Given the description of an element on the screen output the (x, y) to click on. 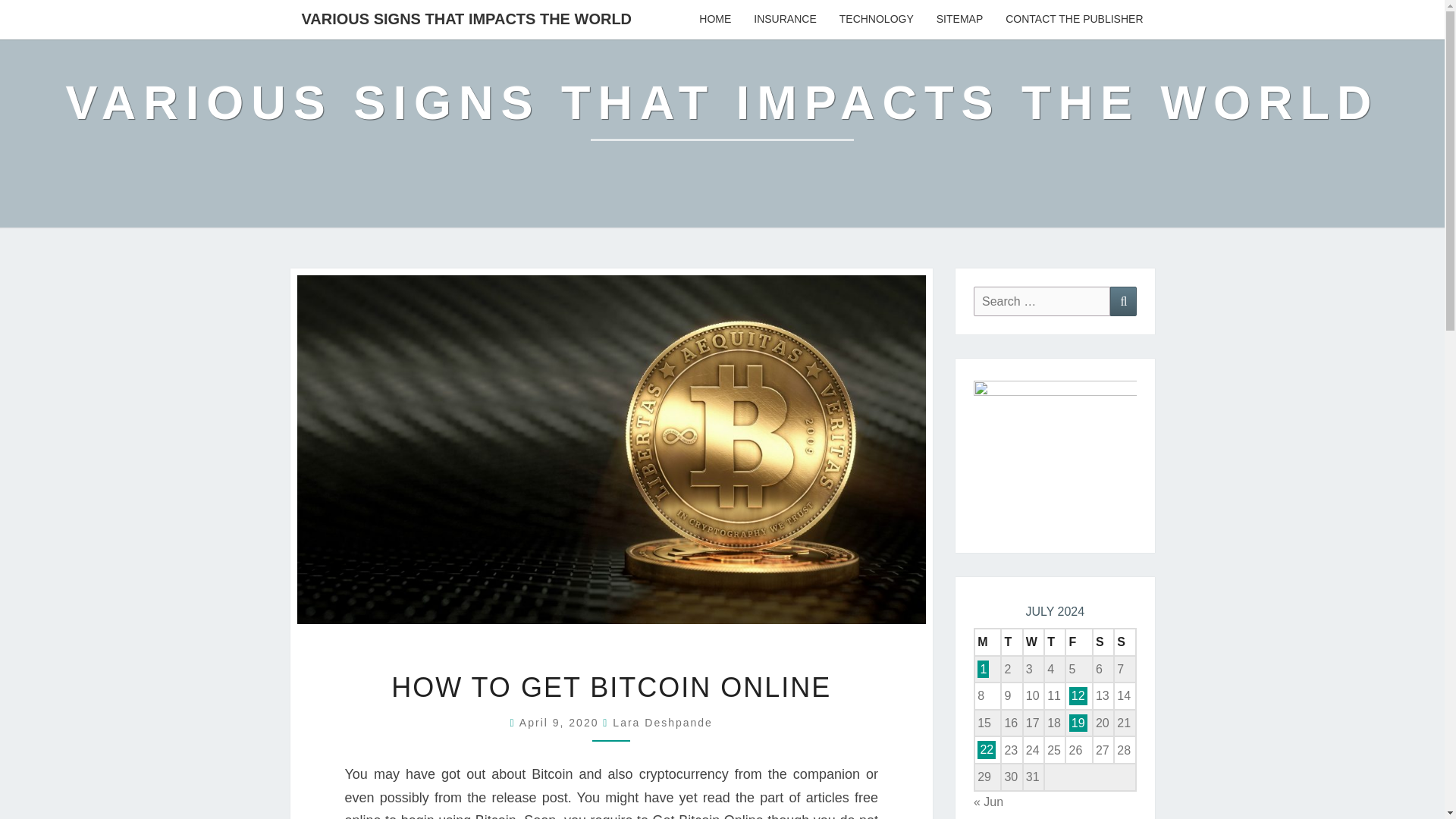
Various signs that impacts the world (721, 113)
Thursday (1054, 642)
Search (1123, 301)
12 (1077, 695)
CONTACT THE PUBLISHER (1074, 19)
Saturday (1103, 642)
9:25 am (561, 722)
Tuesday (1011, 642)
VARIOUS SIGNS THAT IMPACTS THE WORLD (466, 18)
Friday (1078, 642)
Lara Deshpande (662, 722)
TECHNOLOGY (876, 19)
Wednesday (1033, 642)
View all posts by Lara Deshpande (662, 722)
Search for: (1041, 301)
